Given the description of an element on the screen output the (x, y) to click on. 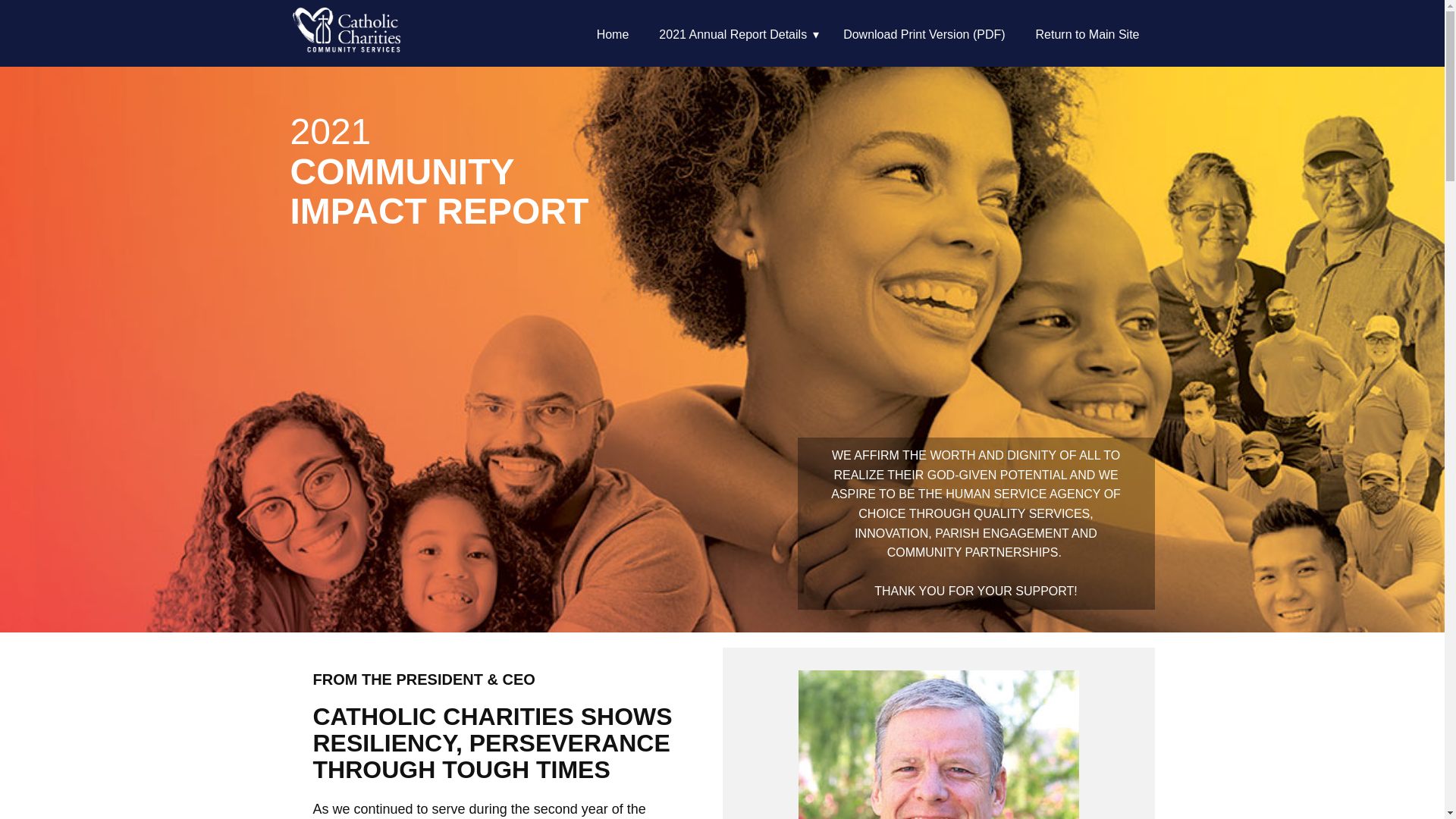
2021 Annual Report Details (735, 34)
Return to Main Site (1087, 34)
CCCS (346, 35)
Home (612, 34)
